Given the description of an element on the screen output the (x, y) to click on. 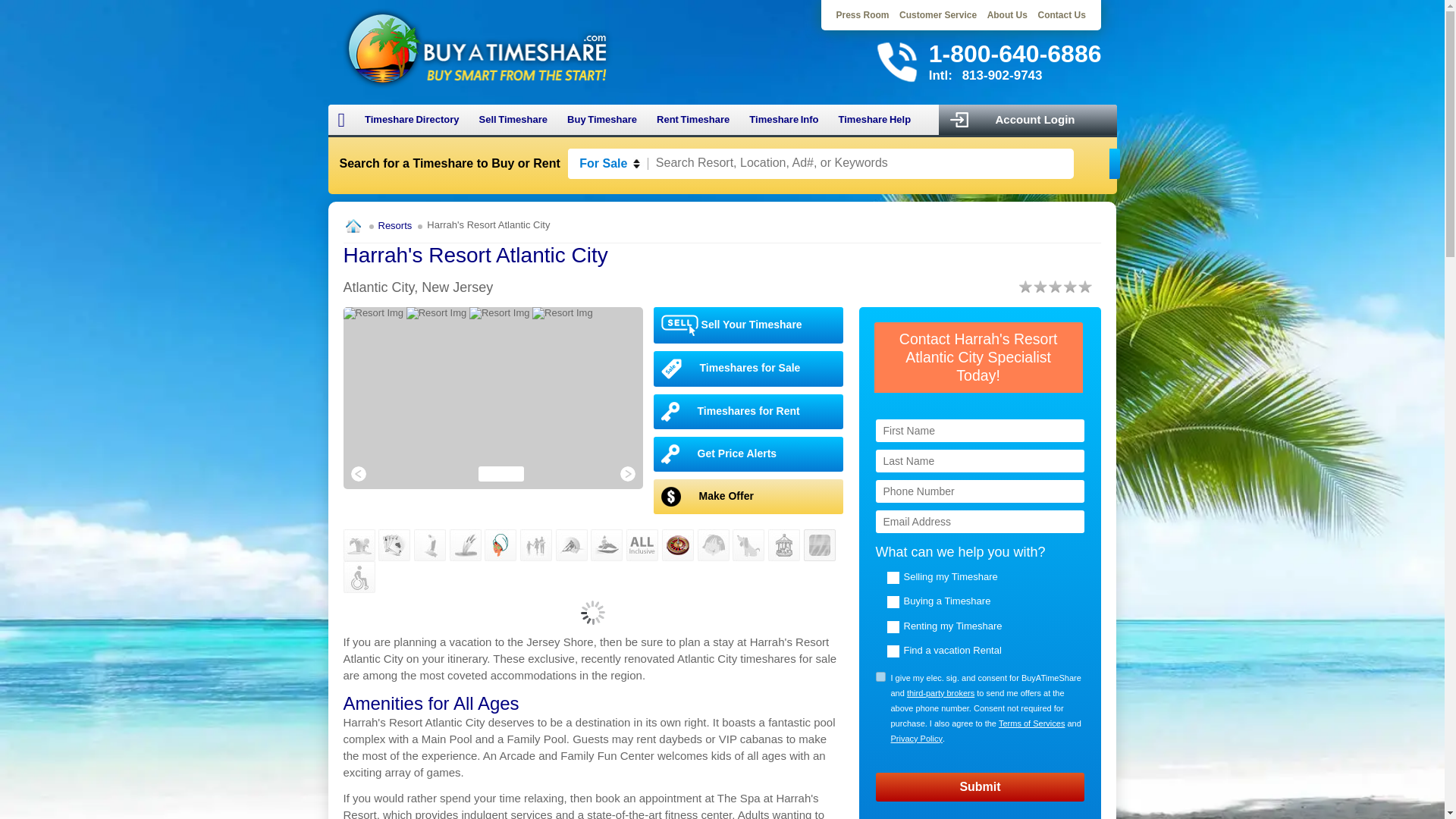
Customer Service (937, 14)
Sell Harrah's Resort Atlantic City timeshare (748, 325)
1-800-640-6886 (1015, 53)
Timeshare Directory (411, 119)
Contact Us (1060, 14)
Press Room (862, 14)
Last Name (979, 460)
1 (880, 676)
Email (979, 521)
Phone Number (979, 490)
